Given the description of an element on the screen output the (x, y) to click on. 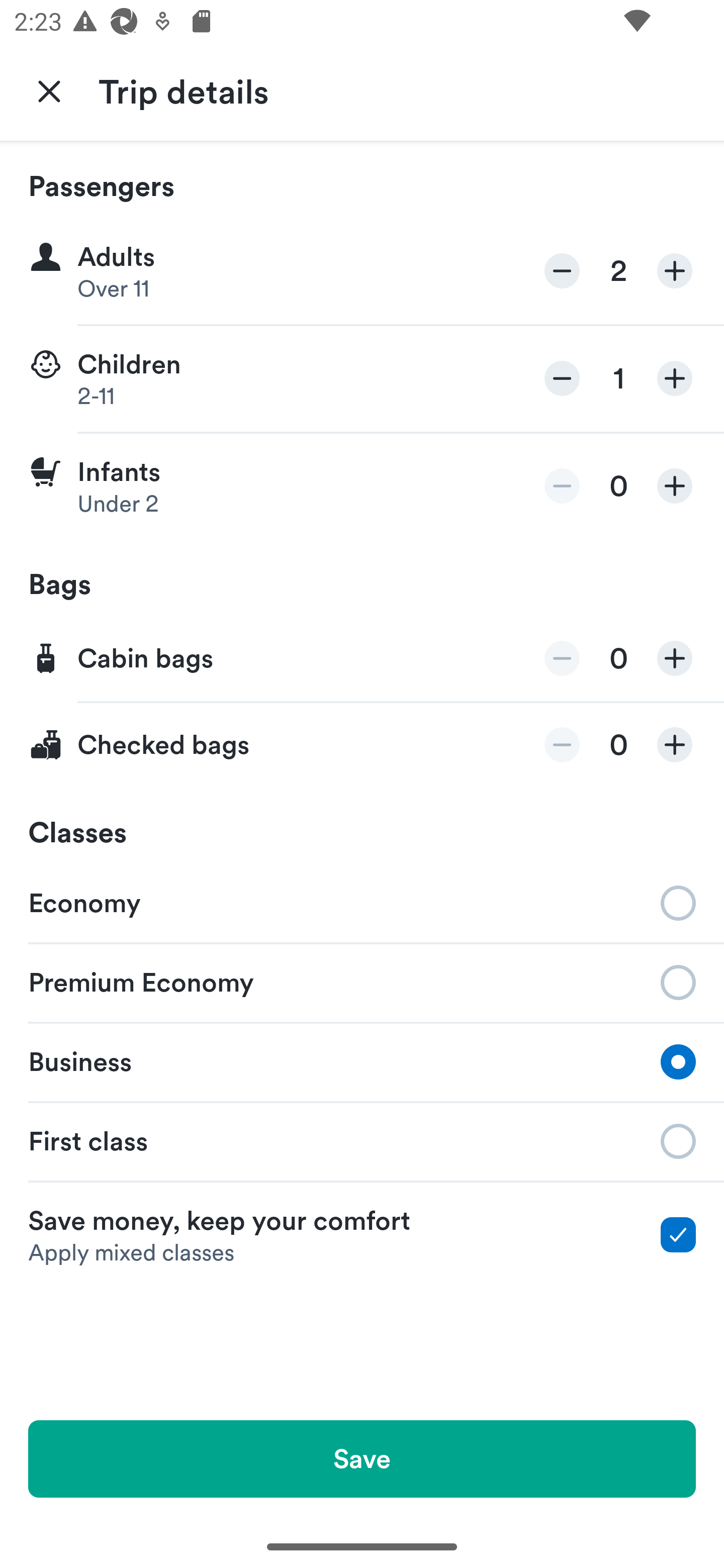
Navigate up (49, 90)
Remove 2 Add Adults Over 11 (362, 271)
Remove (561, 270)
Add (674, 270)
Remove 1 Add Children 2-11 (362, 379)
Remove (561, 377)
Add (674, 377)
Remove 0 Add Infants Under 2 (362, 485)
Remove (561, 485)
Add (674, 485)
Remove 0 Add Cabin bags (362, 659)
Remove (561, 658)
Add (674, 658)
Remove 0 Add Checked bags (362, 744)
Remove (561, 744)
Add (674, 744)
Economy (362, 901)
Premium Economy (362, 980)
First class (362, 1141)
Save (361, 1458)
